Given the description of an element on the screen output the (x, y) to click on. 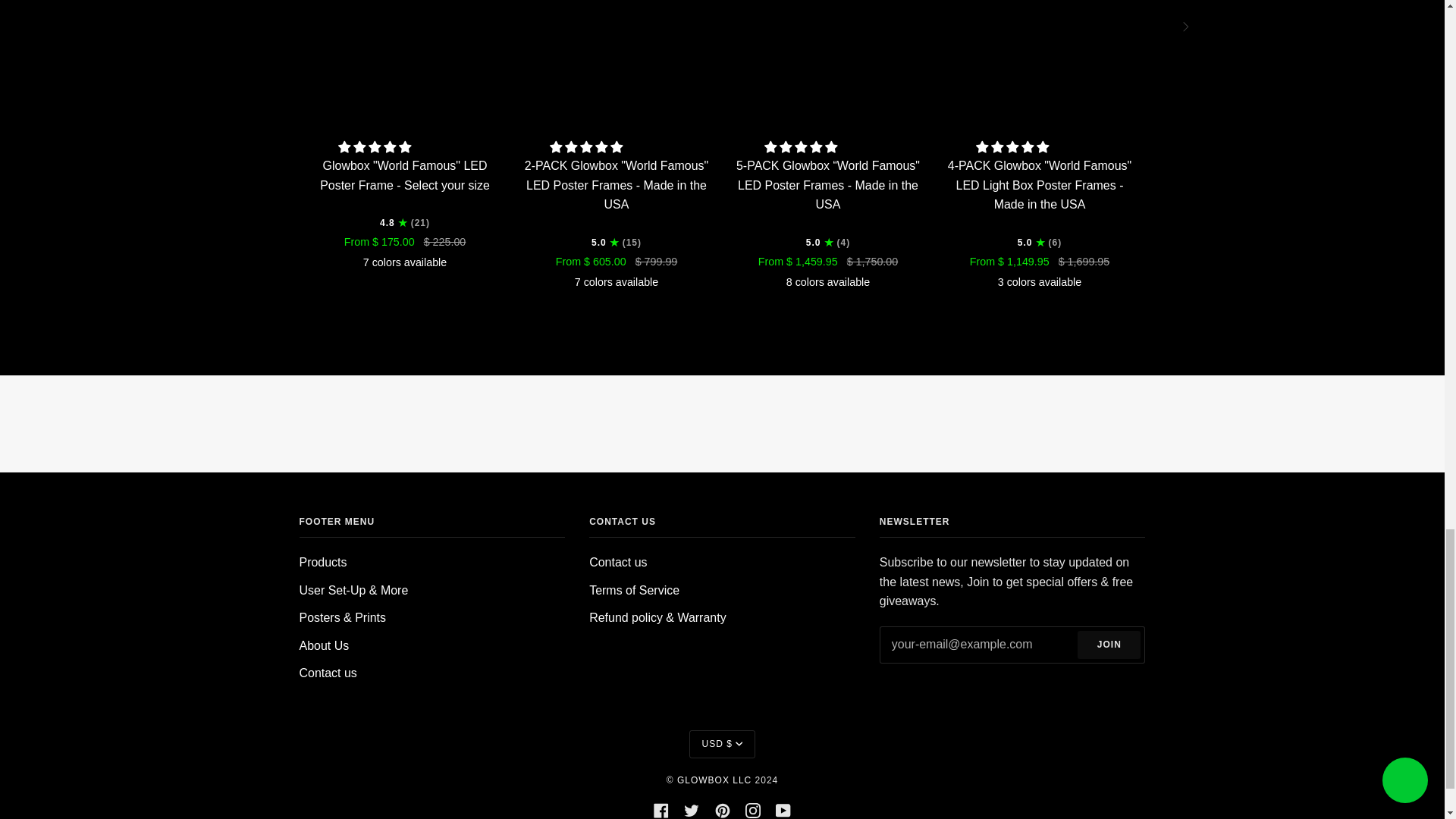
YouTube (783, 809)
Twitter (691, 809)
Facebook (660, 809)
Pinterest (721, 809)
Instagram (752, 809)
